Given the description of an element on the screen output the (x, y) to click on. 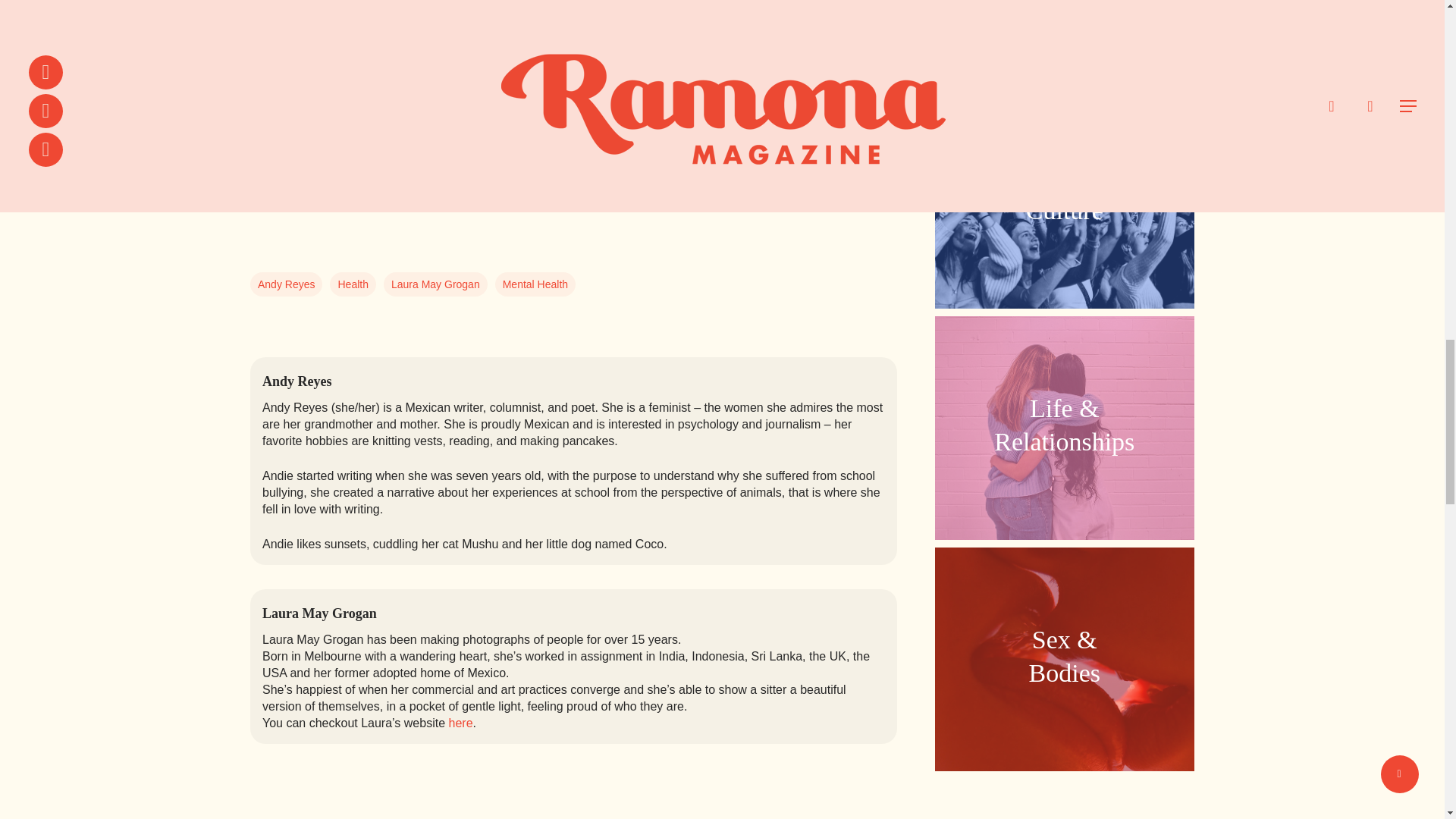
here (1063, 38)
Mental Health (460, 722)
Health (535, 283)
Laura May Grogan (352, 283)
Andy Reyes (435, 283)
